Given the description of an element on the screen output the (x, y) to click on. 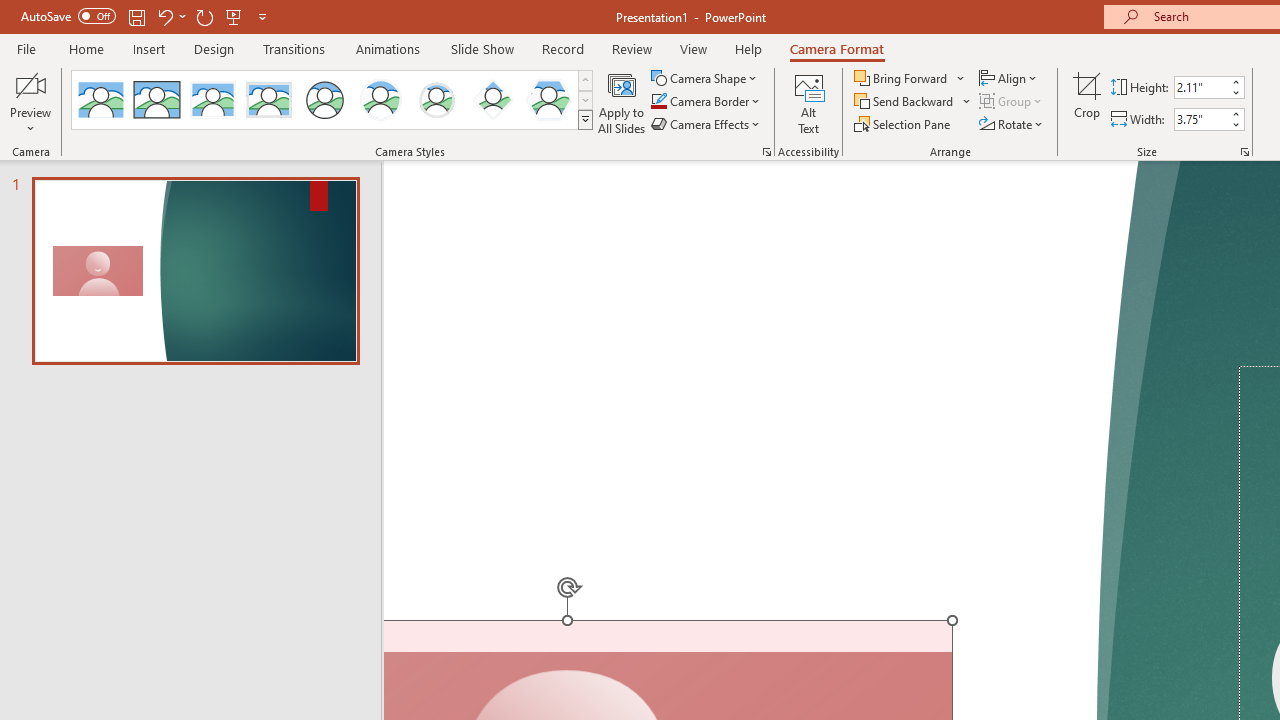
Center Shadow Hexagon (548, 100)
Alt Text (808, 102)
Format Object... (766, 151)
Less (1235, 124)
Camera Border (706, 101)
Crop (1087, 102)
Selection Pane... (904, 124)
Row Down (585, 100)
Soft Edge Rectangle (268, 100)
